Given the description of an element on the screen output the (x, y) to click on. 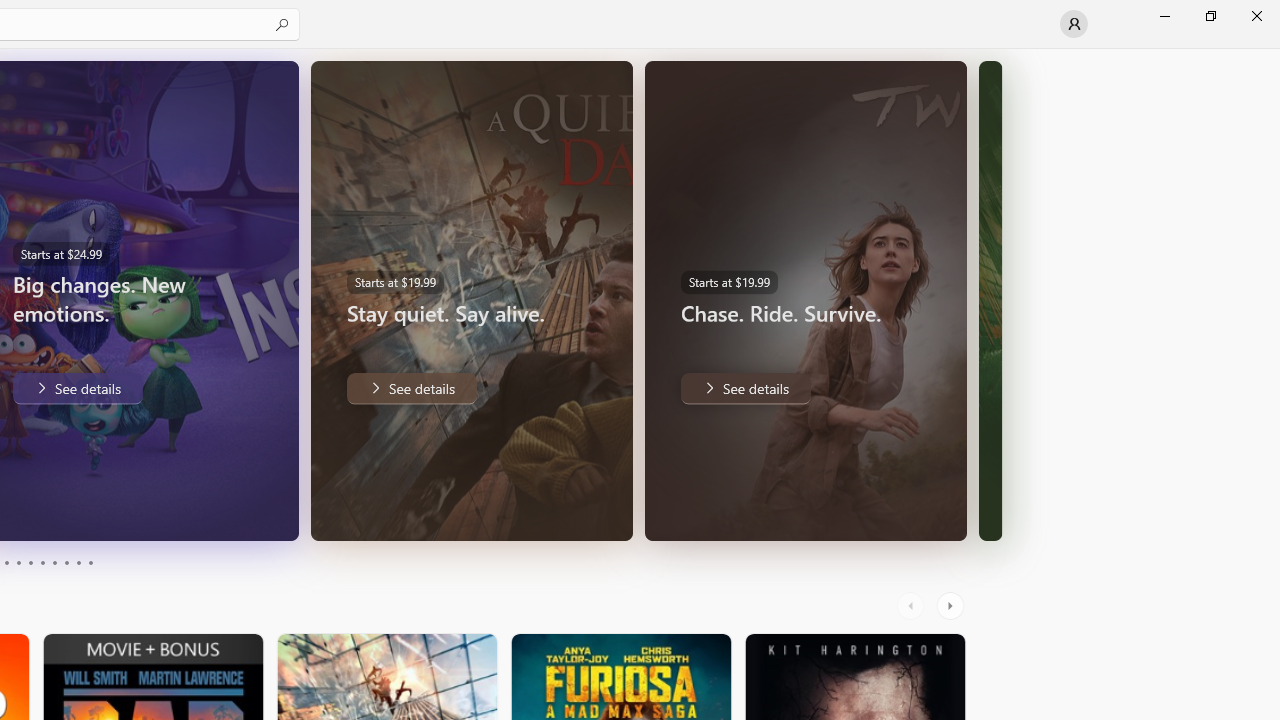
Page 4 (17, 562)
Restore Microsoft Store (1210, 15)
Page 8 (65, 562)
Close Microsoft Store (1256, 15)
Page 3 (5, 562)
